Given the description of an element on the screen output the (x, y) to click on. 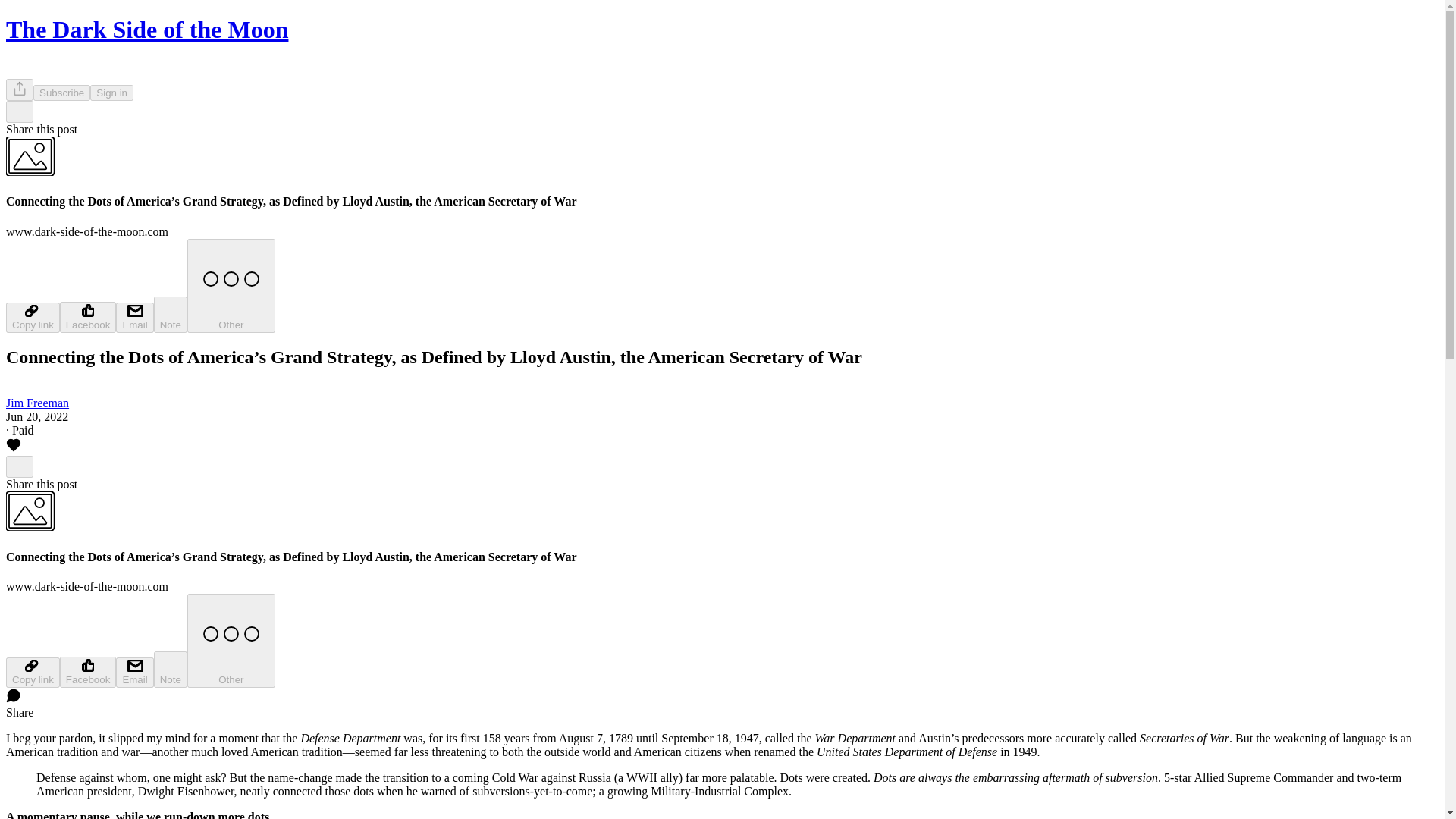
Sign in (111, 92)
The Dark Side of the Moon (146, 29)
Other (231, 285)
Subscribe (61, 92)
Copy link (32, 672)
Facebook (87, 671)
Jim Freeman (36, 402)
Facebook (87, 317)
Other (231, 640)
Email (134, 317)
Note (170, 314)
Email (134, 672)
Note (170, 669)
Copy link (32, 317)
